Given the description of an element on the screen output the (x, y) to click on. 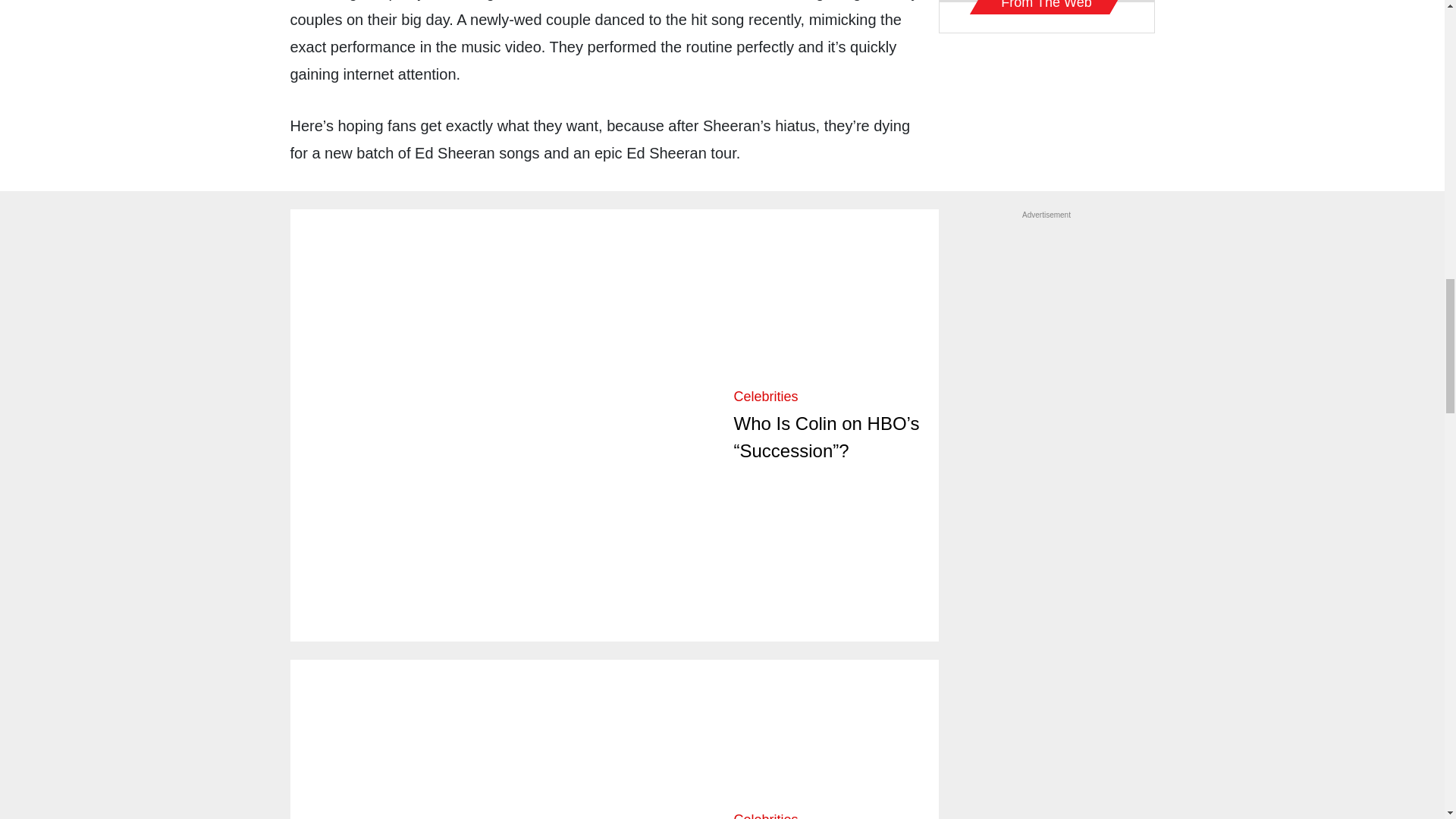
Category Name (765, 396)
Category Name (765, 815)
Celebrities (765, 396)
